Given the description of an element on the screen output the (x, y) to click on. 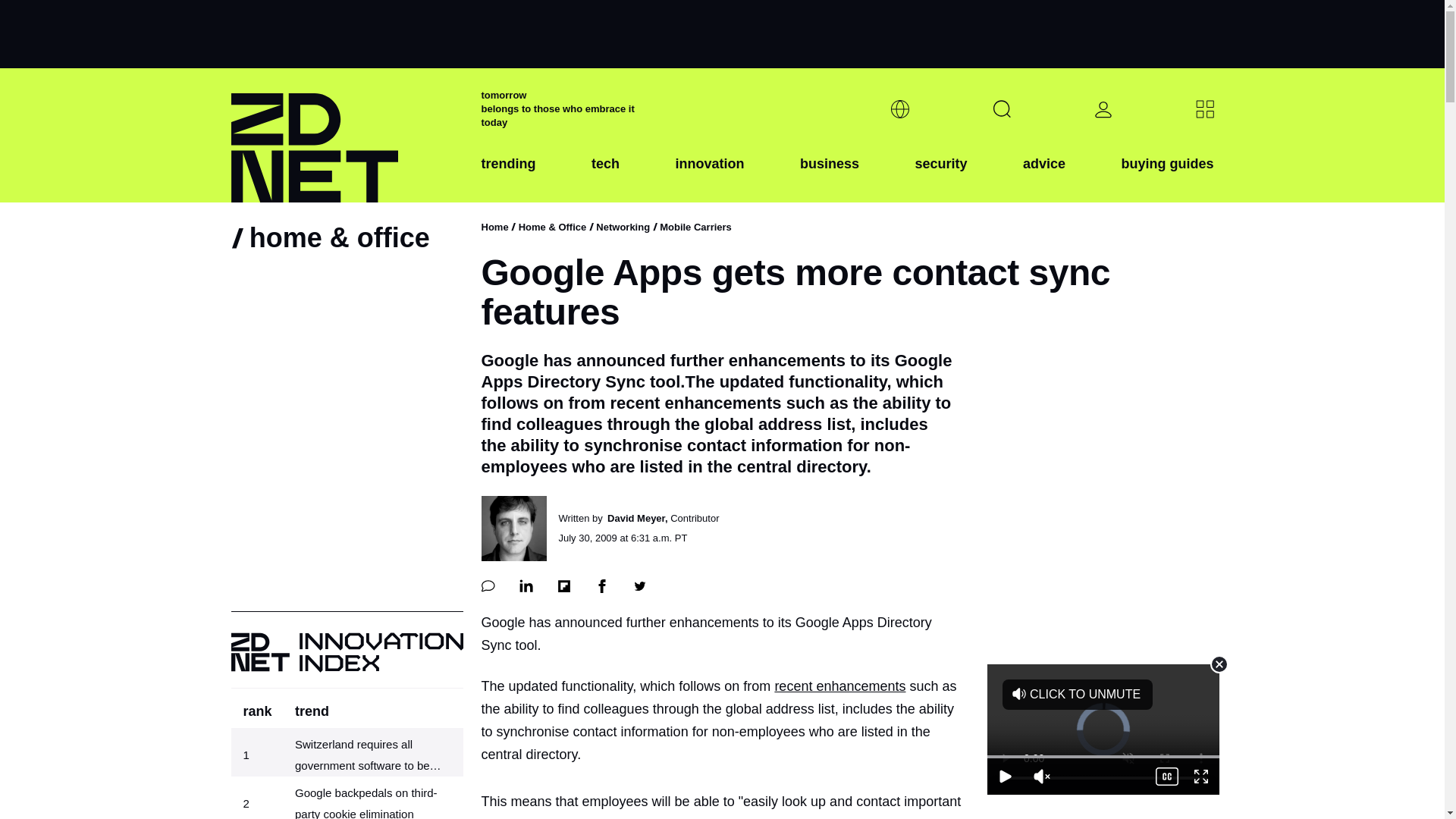
Advertisement (1103, 729)
Play (1005, 776)
Unmute (1041, 776)
ZDNET (346, 134)
Captions (1164, 776)
3rd party ad content (721, 33)
trending (507, 175)
